Given the description of an element on the screen output the (x, y) to click on. 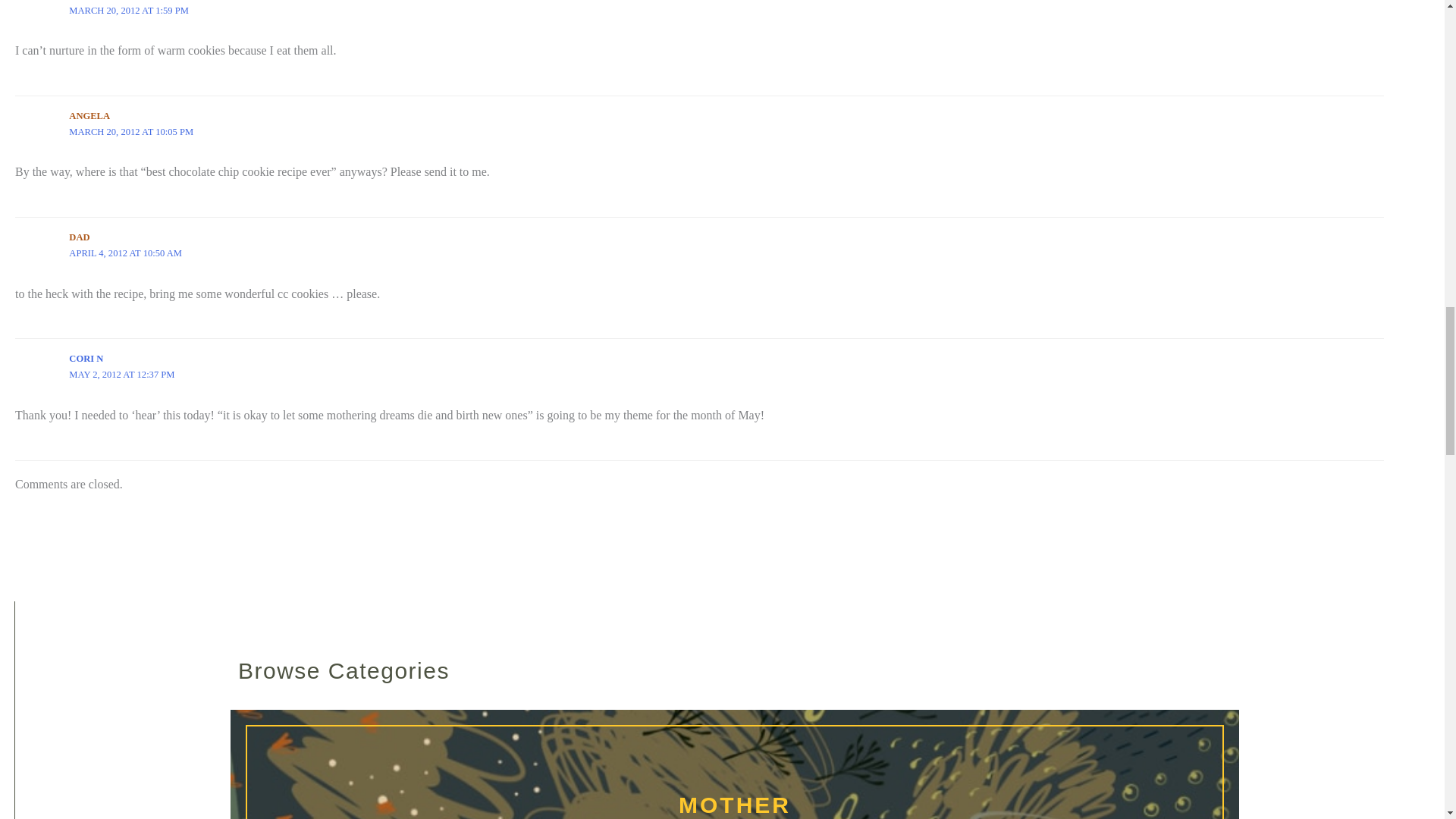
MAY 2, 2012 AT 12:37 PM (121, 374)
MARCH 20, 2012 AT 1:59 PM (128, 9)
CORI N (85, 357)
APRIL 4, 2012 AT 10:50 AM (125, 253)
MARCH 20, 2012 AT 10:05 PM (130, 131)
MOTHER (735, 771)
